Given the description of an element on the screen output the (x, y) to click on. 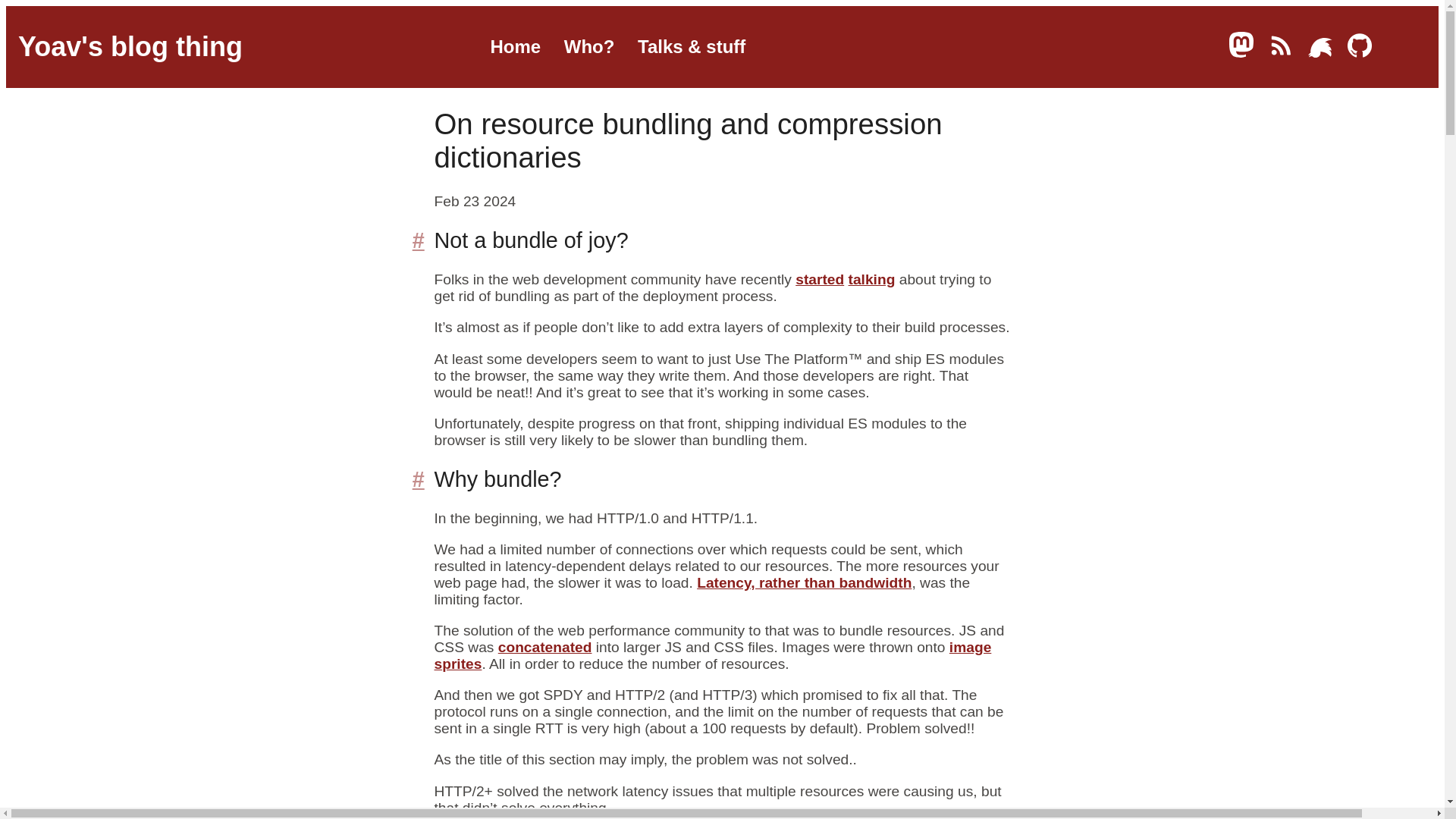
concatenated (544, 647)
talking (871, 279)
Who? (589, 46)
image sprites (712, 655)
Latency, rather than bandwidth (804, 582)
Home (514, 46)
started (819, 279)
Yoav's blog thing (130, 46)
